Given the description of an element on the screen output the (x, y) to click on. 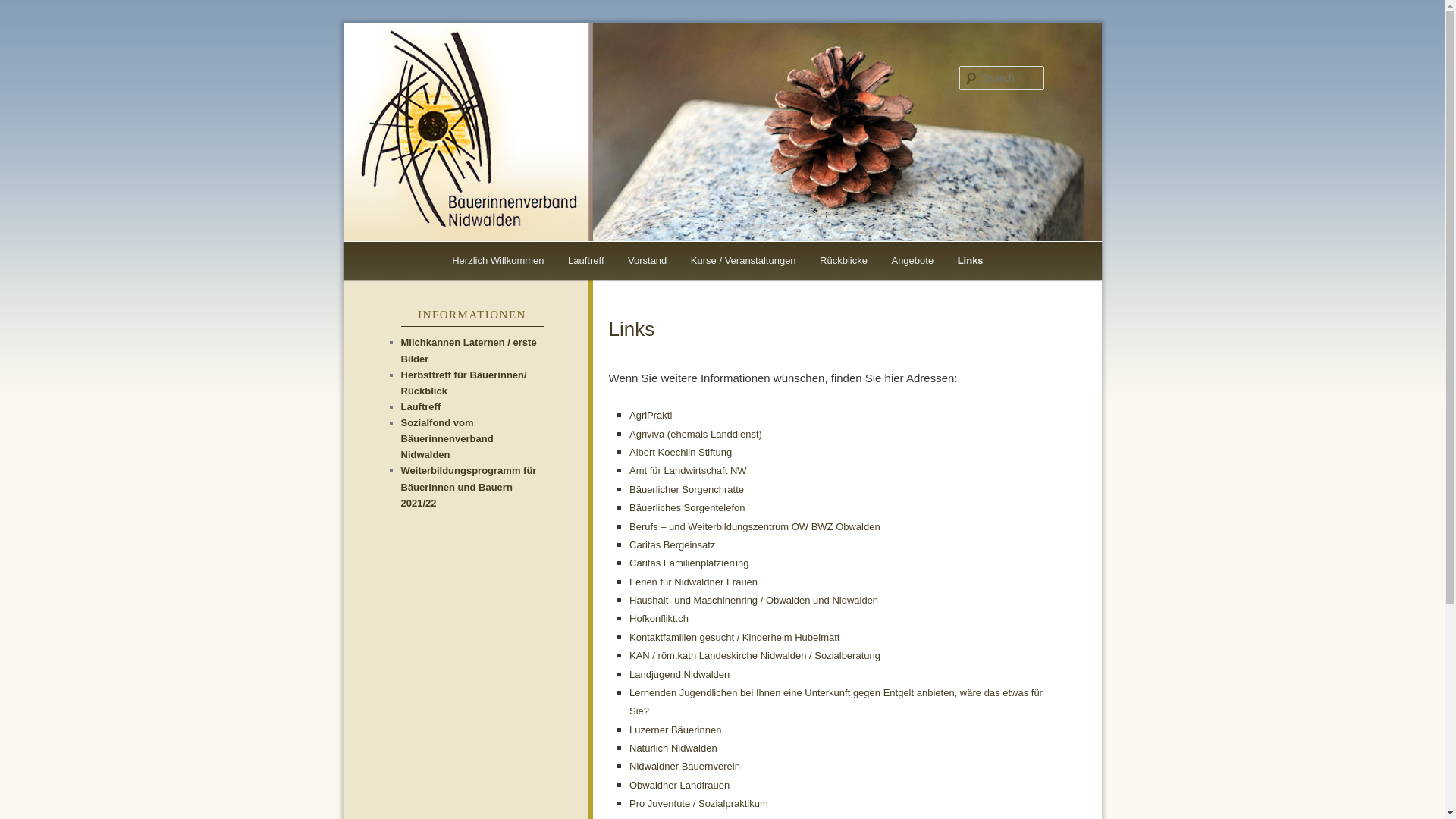
Kurse / Veranstaltungen Element type: text (742, 260)
Search Element type: text (24, 8)
Obwaldner Landfrauen Element type: text (679, 784)
Skip to primary content Element type: text (462, 260)
Landjugend Nidwalden Element type: text (679, 674)
AgriPrakti Element type: text (650, 414)
Caritas Bergeinsatz Element type: text (672, 544)
Caritas Familienplatzierung Element type: text (689, 562)
Herzlich Willkommen Element type: text (497, 260)
Vorstand Element type: text (646, 260)
Skip to secondary content Element type: text (468, 260)
Kontaktfamilien gesucht / Kinderheim Hubelmatt Element type: text (734, 637)
Albert Koechlin Stiftung Element type: text (680, 452)
Milchkannen Laternen / erste Bilder Element type: text (468, 350)
Lauftreff Element type: text (585, 260)
Lauftreff Element type: text (420, 406)
Links Element type: text (969, 260)
Haushalt- und Maschinenring / Obwalden und Nidwalden Element type: text (753, 599)
Nidwaldner Bauernverein Element type: text (684, 765)
Hofkonflikt.ch Element type: text (658, 618)
Pro Juventute / Sozialpraktikum Element type: text (698, 803)
Agriviva (ehemals Landdienst) Element type: text (695, 433)
Angebote Element type: text (912, 260)
